Given the description of an element on the screen output the (x, y) to click on. 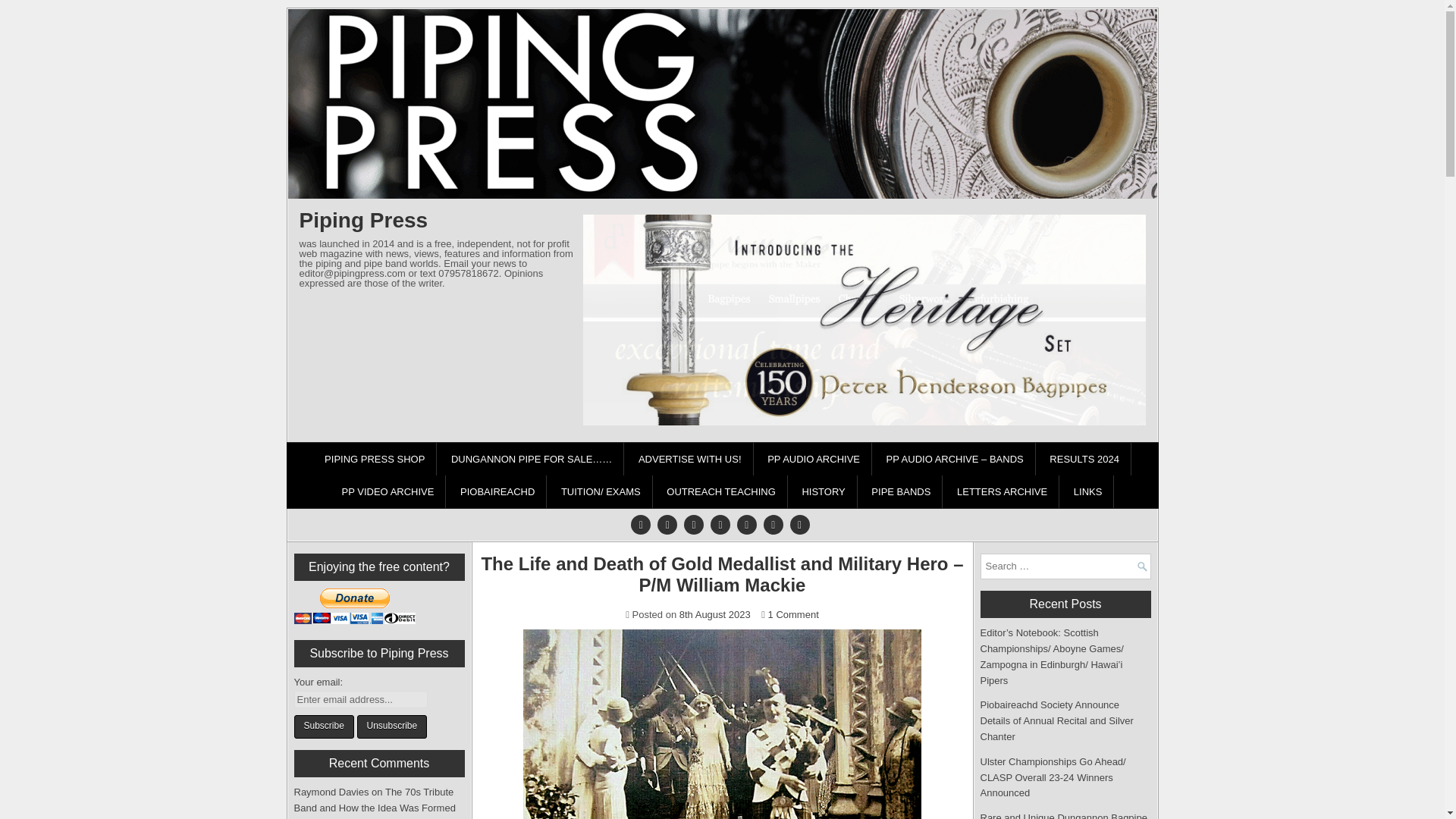
Unsubscribe (391, 726)
PP VIDEO ARCHIVE (388, 490)
OUTREACH TEACHING (721, 490)
Facebook (667, 523)
PIPING PRESS SHOP (374, 459)
Twitter (640, 523)
HISTORY (823, 490)
Subscribe (323, 726)
Enter email address... (361, 699)
RESULTS 2024 (1084, 459)
8th August 2023 (715, 614)
LETTERS ARCHIVE (1001, 490)
1 Comment (793, 614)
ADVERTISE WITH US! (690, 459)
LINKS (1088, 490)
